Given the description of an element on the screen output the (x, y) to click on. 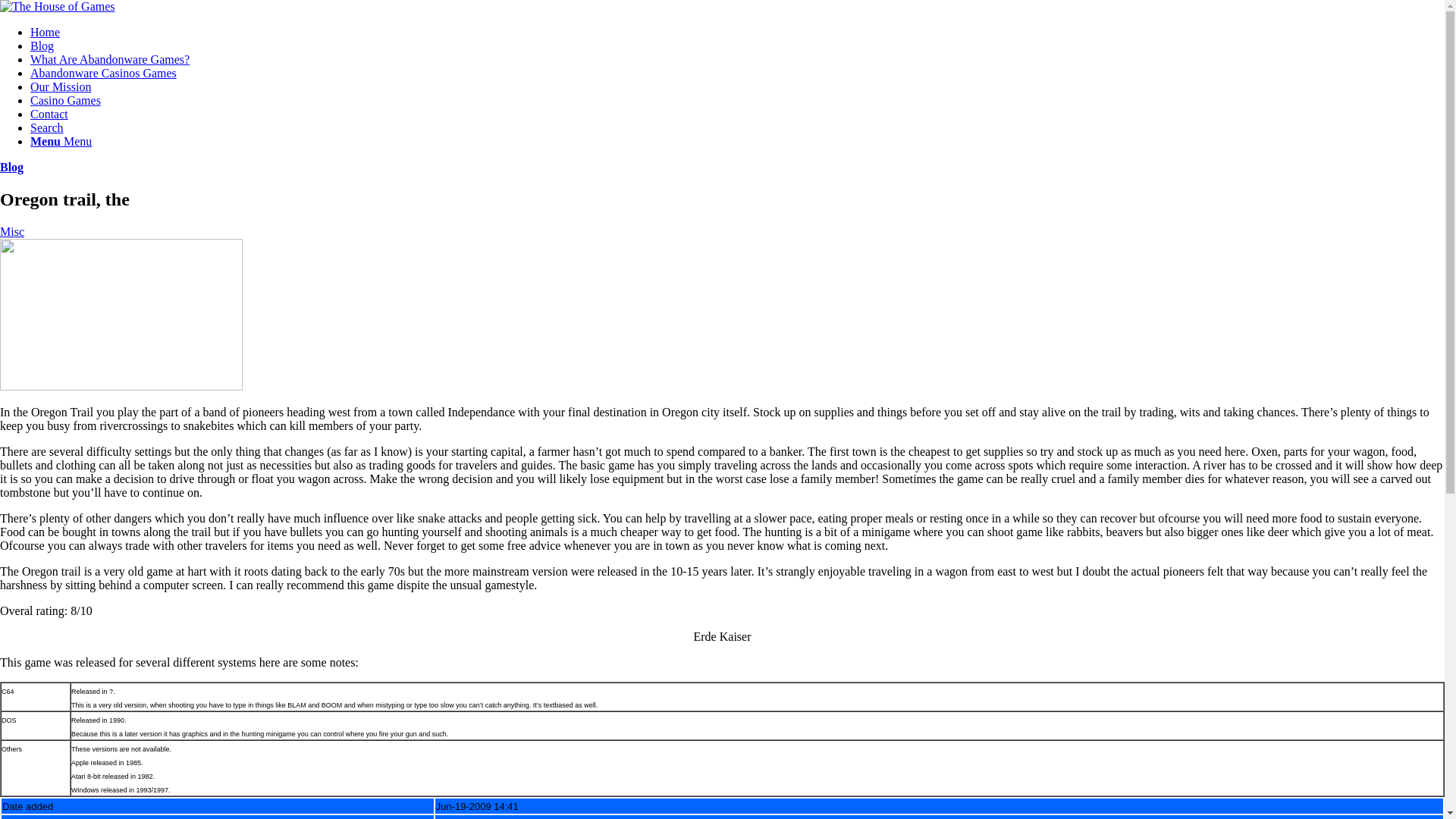
Home (44, 31)
What Are Abandonware Games? (109, 59)
Search (47, 127)
Permanent Link: Blog (11, 166)
Contact (49, 113)
Misc (12, 231)
Casino Games (65, 100)
Menu Menu (60, 141)
Our Mission (60, 86)
Blog (41, 45)
